Given the description of an element on the screen output the (x, y) to click on. 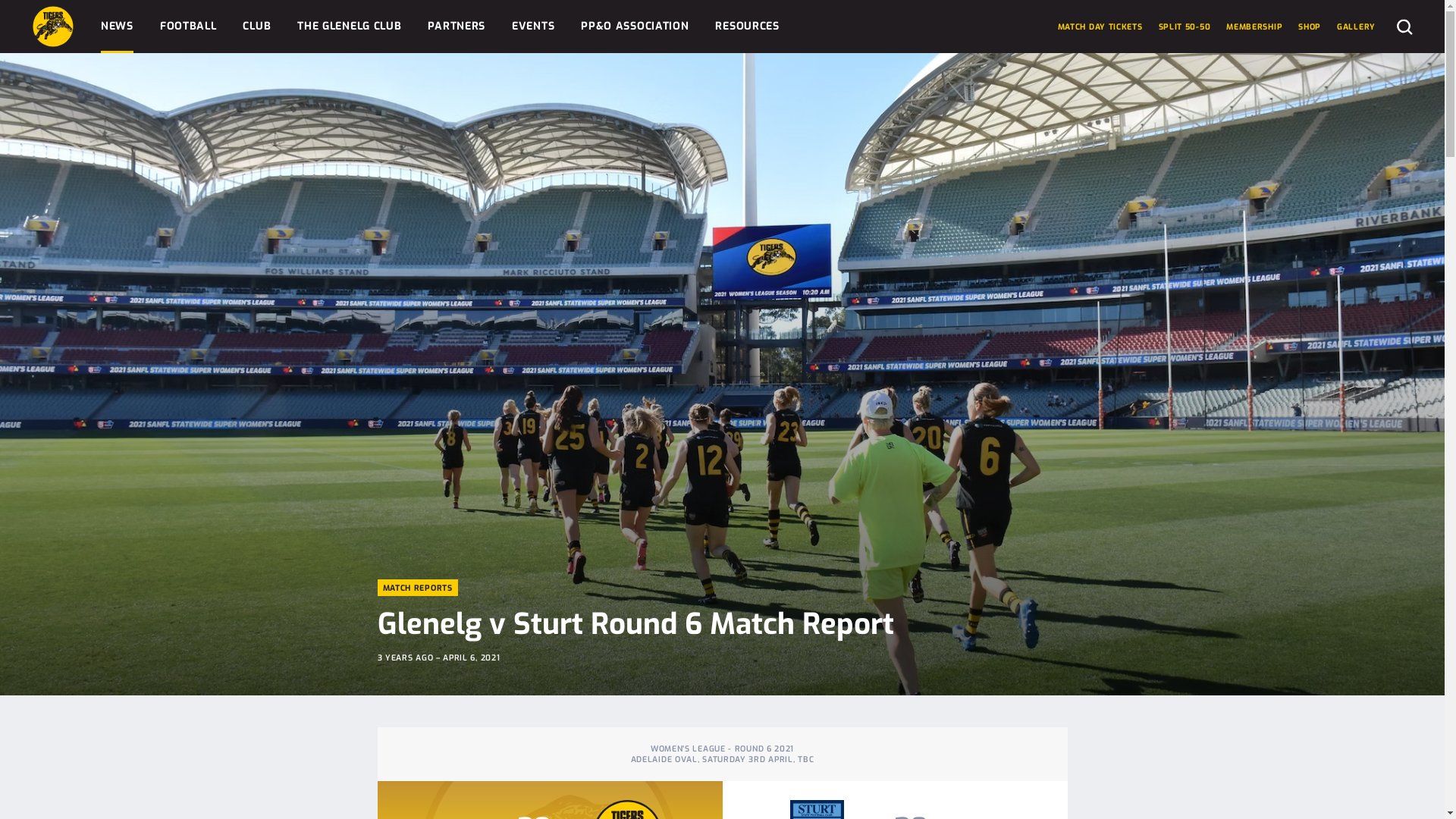
MEMBERSHIP Element type: text (1254, 26)
CLUB Element type: text (256, 26)
EVENTS Element type: text (532, 26)
Search Element type: text (1404, 26)
THE GLENELG CLUB Element type: text (349, 26)
FOOTBALL Element type: text (188, 26)
PP&O ASSOCIATION Element type: text (634, 26)
RESOURCES Element type: text (746, 26)
GALLERY Element type: text (1355, 26)
PARTNERS Element type: text (456, 26)
SPLIT 50-50 Element type: text (1184, 26)
MATCH DAY TICKETS Element type: text (1099, 26)
Glenelg Football Club Element type: text (52, 26)
NEWS Element type: text (116, 26)
SHOP Element type: text (1309, 26)
